Given the description of an element on the screen output the (x, y) to click on. 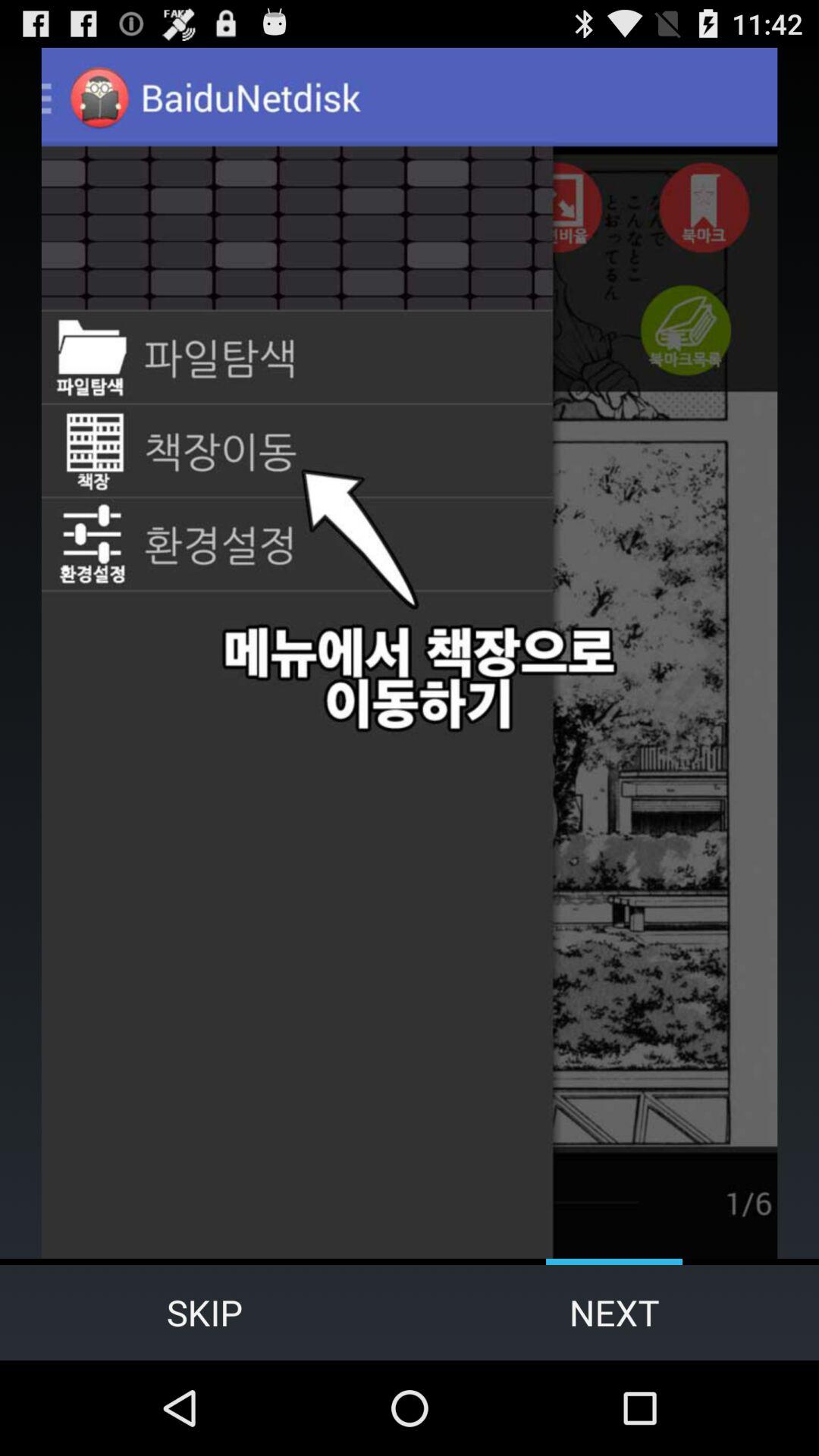
select the item to the left of next button (204, 1312)
